Given the description of an element on the screen output the (x, y) to click on. 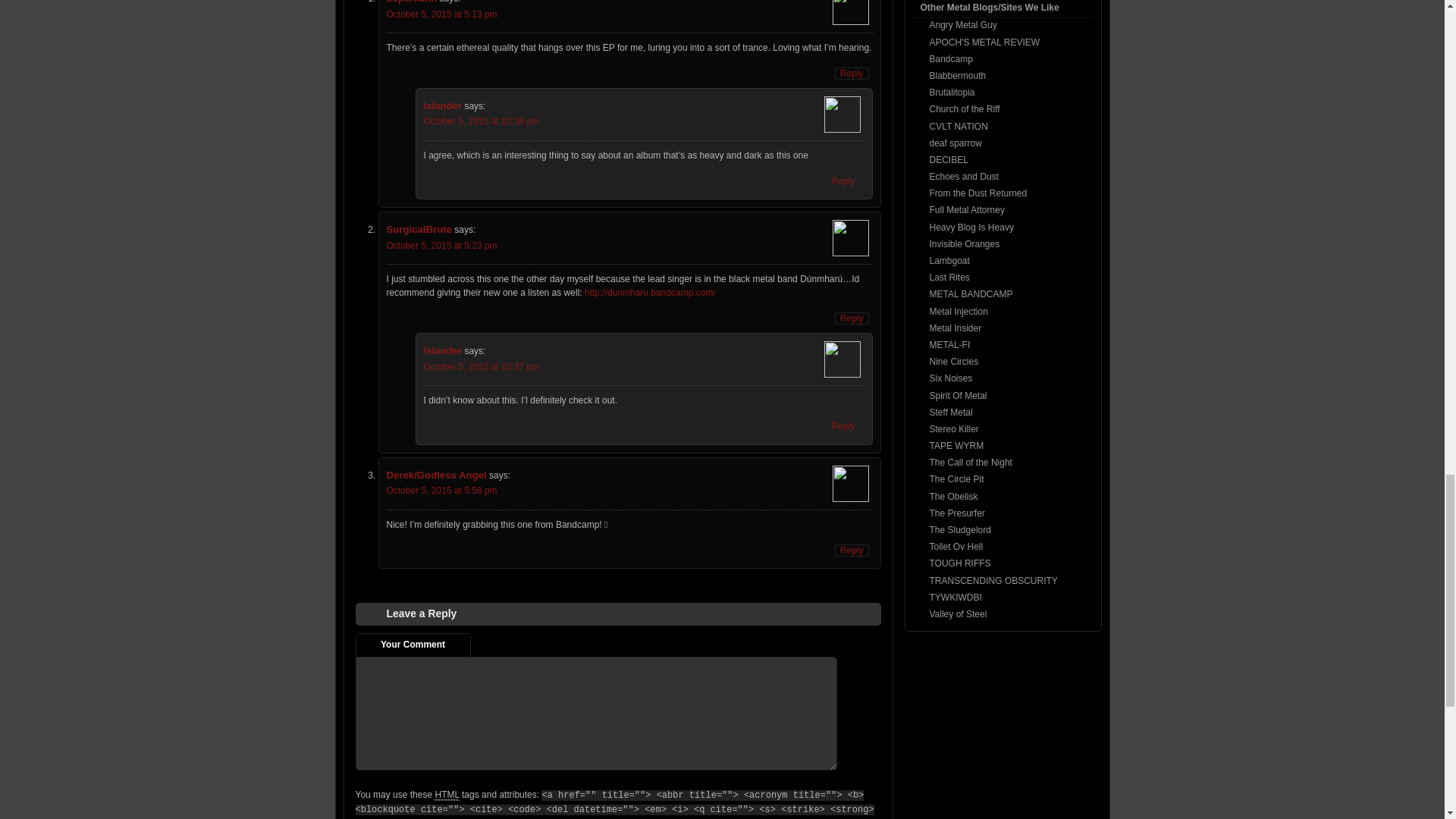
Islander (442, 105)
Reply (851, 73)
Reply (851, 550)
Reply (843, 426)
October 5, 2015 at 10:37 pm (480, 366)
HyperText Markup Language (445, 794)
Islander (442, 350)
Reply (843, 181)
October 5, 2015 at 10:38 pm (480, 121)
October 5, 2015 at 5:58 pm (442, 490)
